Given the description of an element on the screen output the (x, y) to click on. 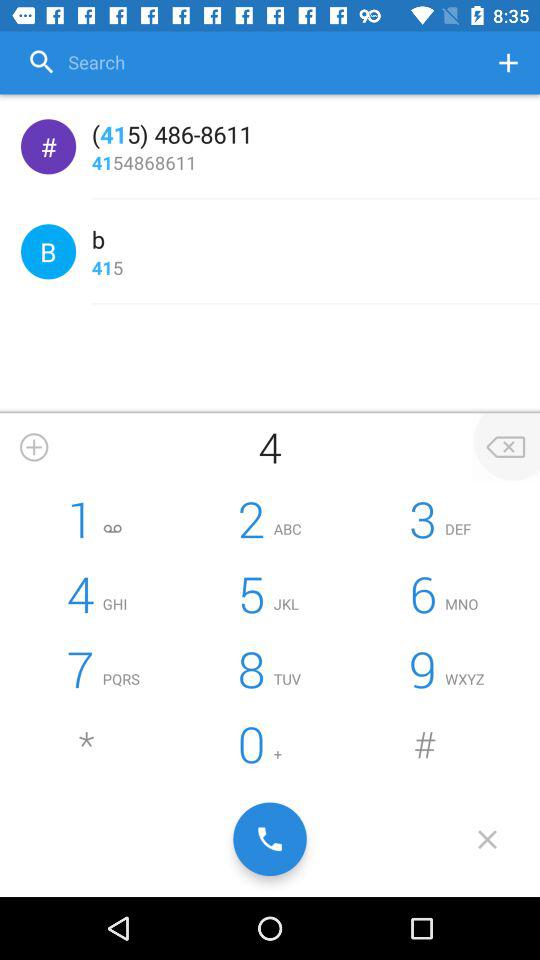
close page (487, 839)
